Given the description of an element on the screen output the (x, y) to click on. 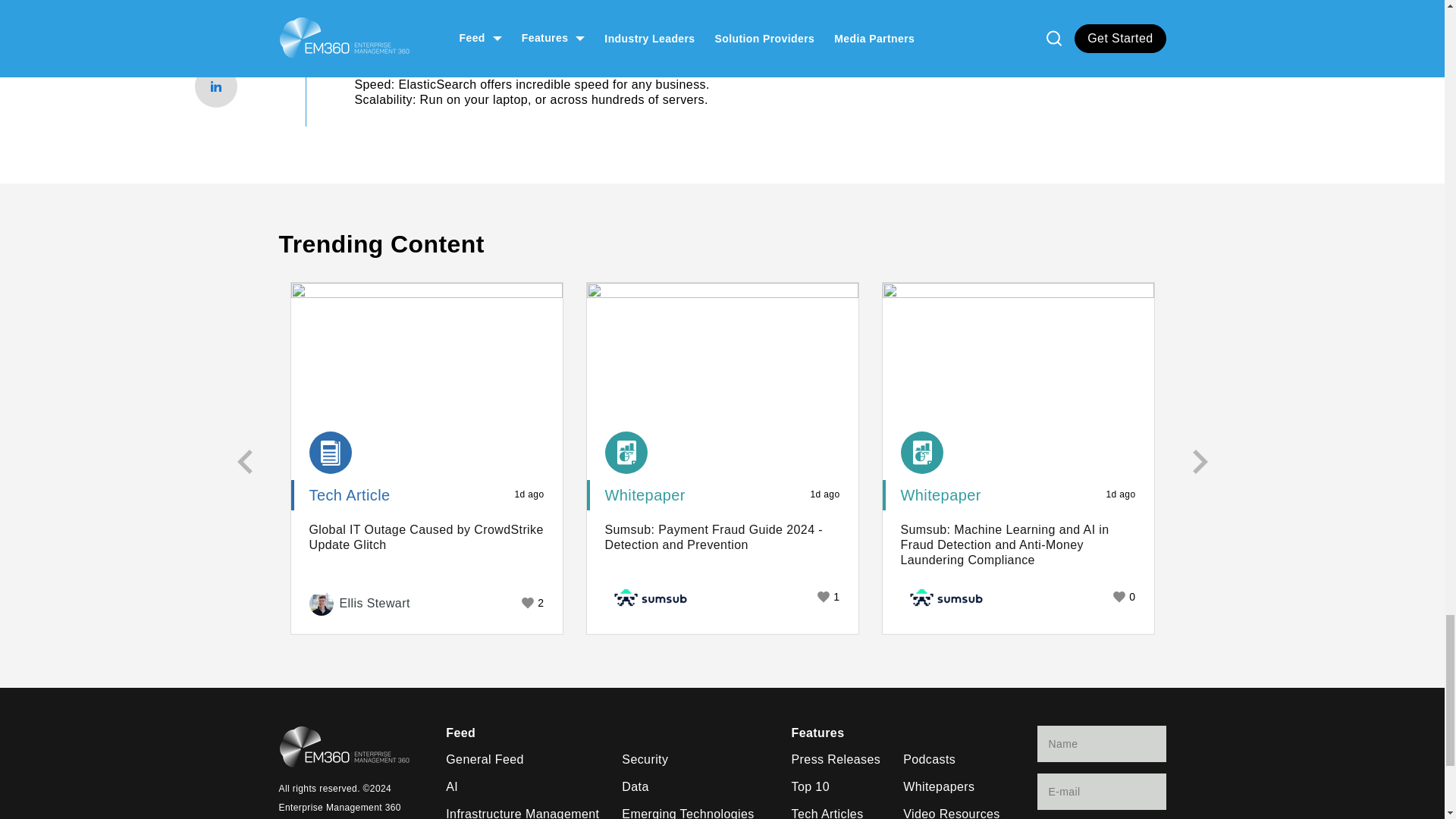
Home (344, 747)
